Given the description of an element on the screen output the (x, y) to click on. 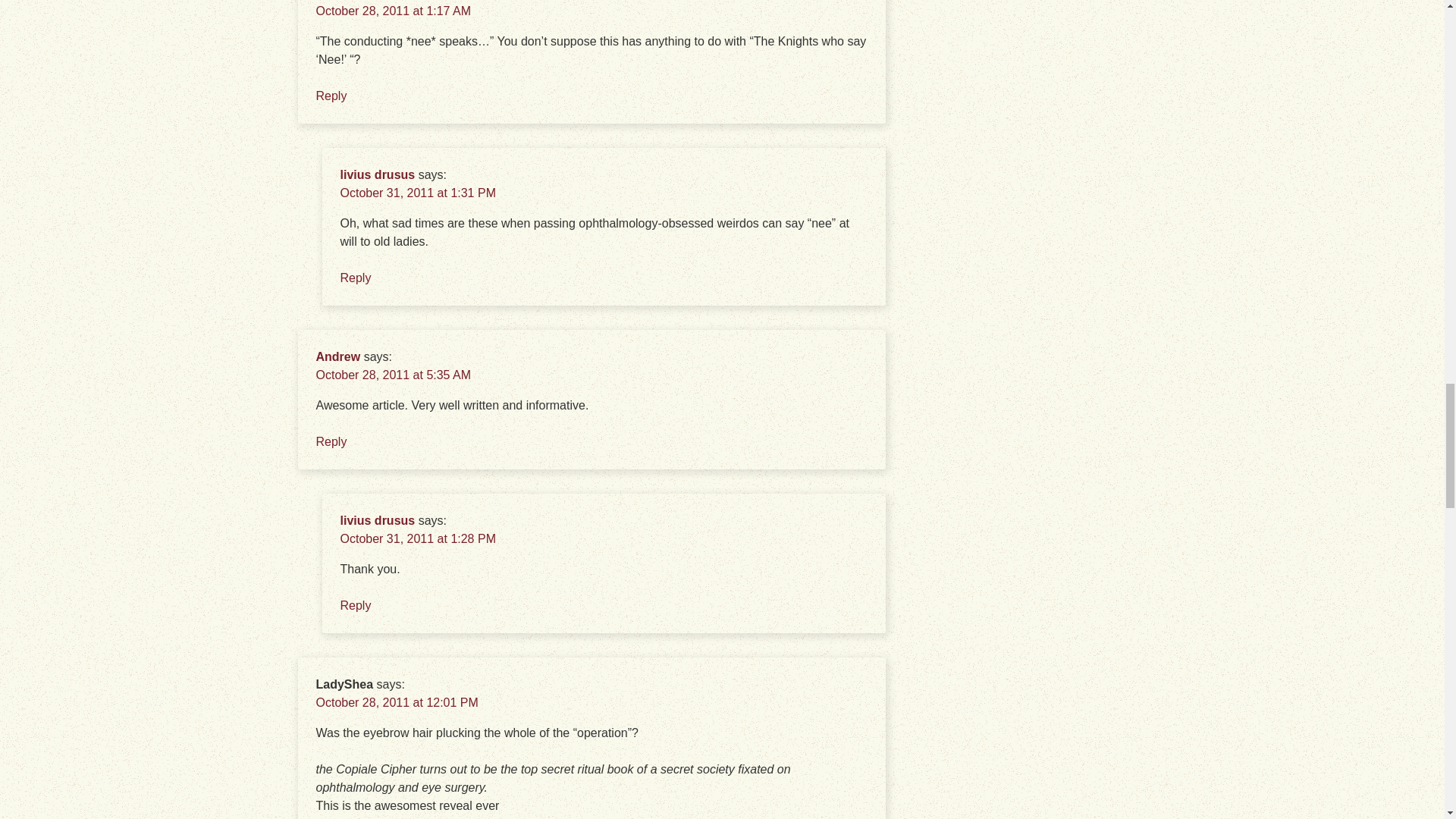
October 28, 2011 at 1:17 AM (392, 10)
Reply (330, 440)
Reply (330, 95)
Andrew (337, 356)
October 31, 2011 at 1:31 PM (417, 192)
October 31, 2011 at 1:28 PM (417, 538)
October 28, 2011 at 5:35 AM (392, 374)
livius drusus (376, 520)
October 28, 2011 at 12:01 PM (396, 702)
Reply (355, 604)
livius drusus (376, 174)
Reply (355, 277)
